Given the description of an element on the screen output the (x, y) to click on. 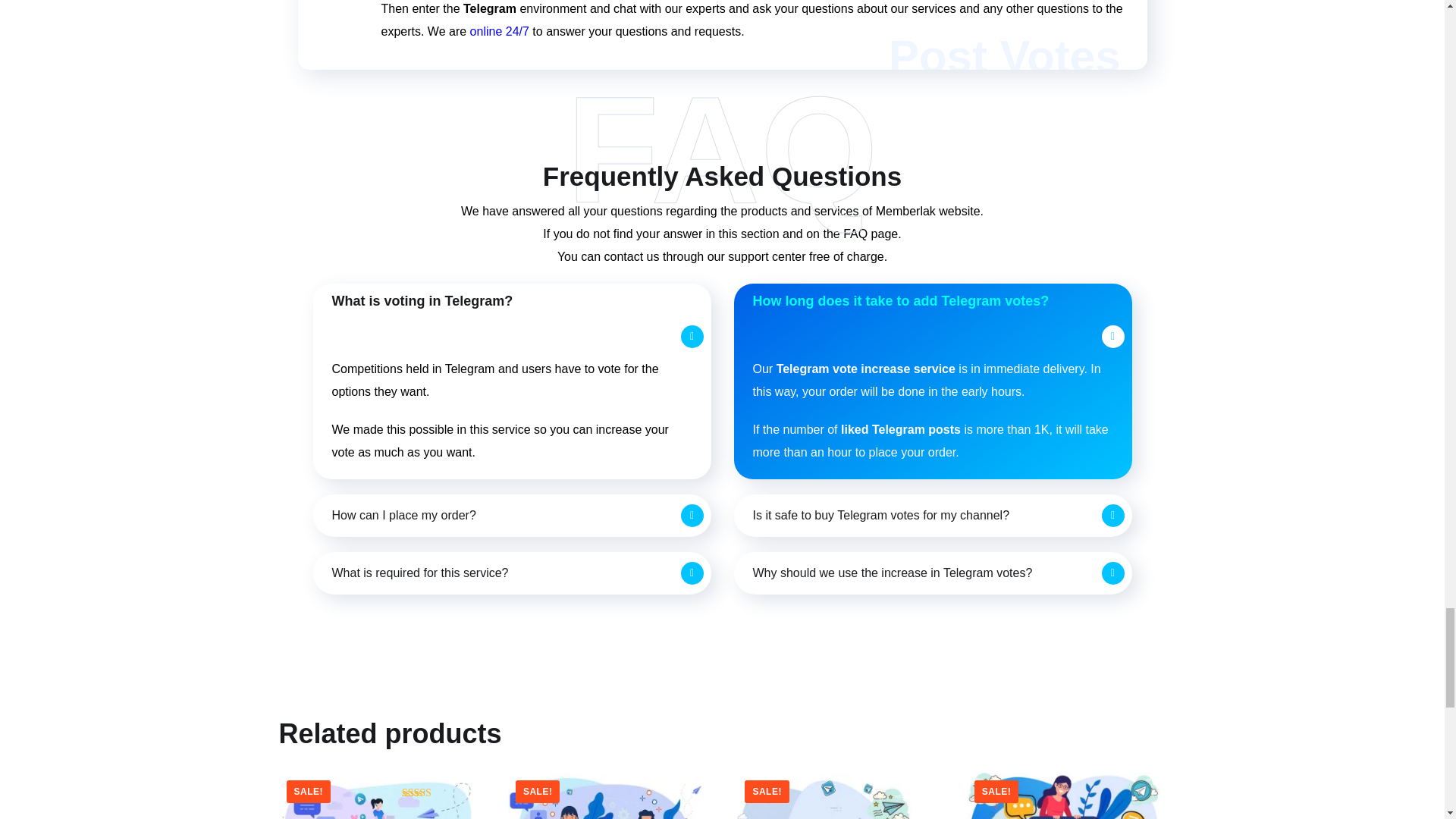
Buy Fake Telegram Members (834, 796)
Buy Telegram Post View (605, 796)
Buy Targeted Telegram Members (376, 796)
Buy Telegram Comments (1063, 796)
